Given the description of an element on the screen output the (x, y) to click on. 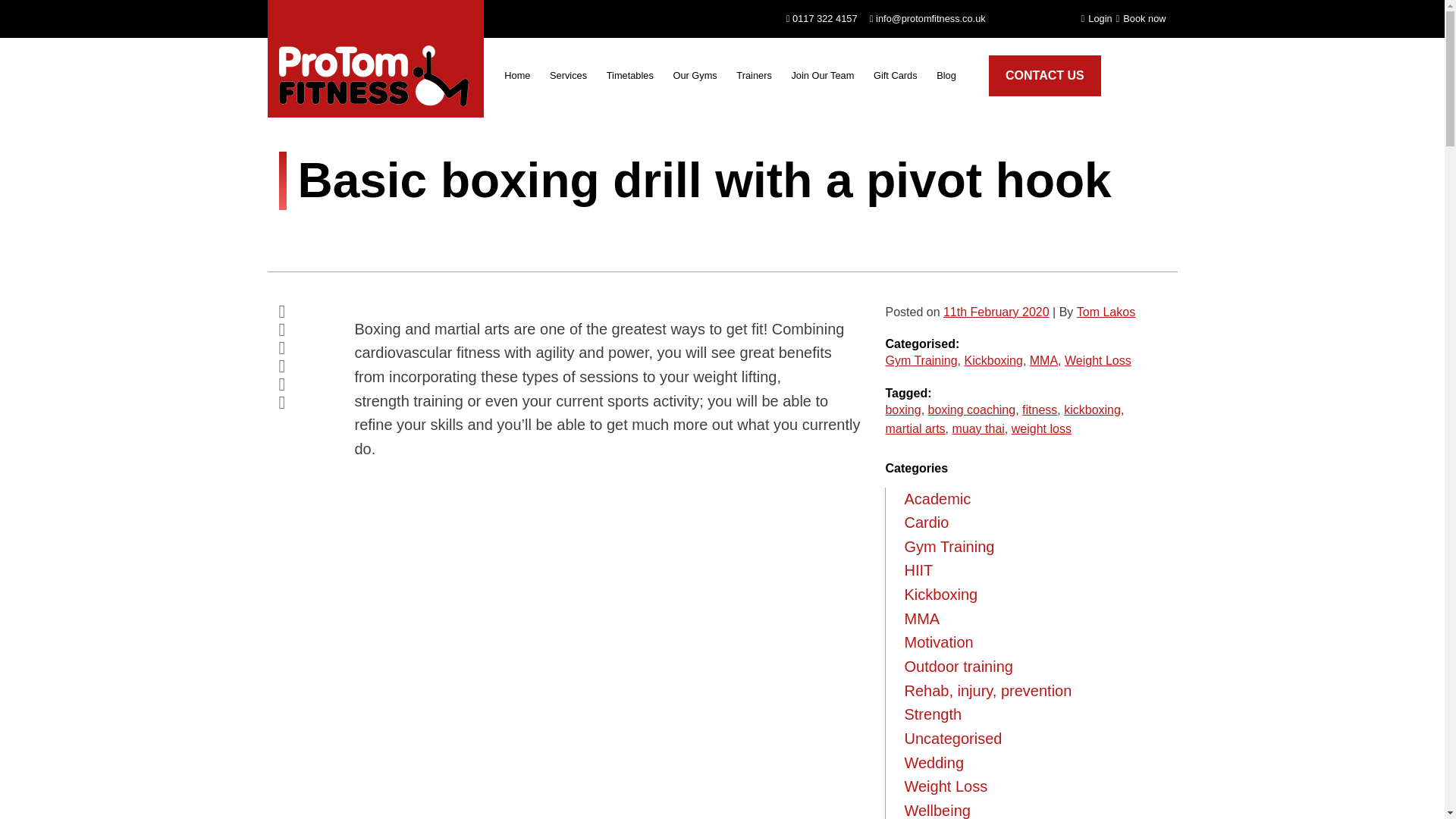
LinkedIn (305, 384)
fitness (1039, 410)
Tom Lakos (1106, 312)
boxing (902, 410)
11th February 2020 (996, 312)
Trainers (753, 79)
Gift Cards (894, 79)
boxing coaching (972, 410)
Services (568, 79)
Twitter (305, 330)
